Given the description of an element on the screen output the (x, y) to click on. 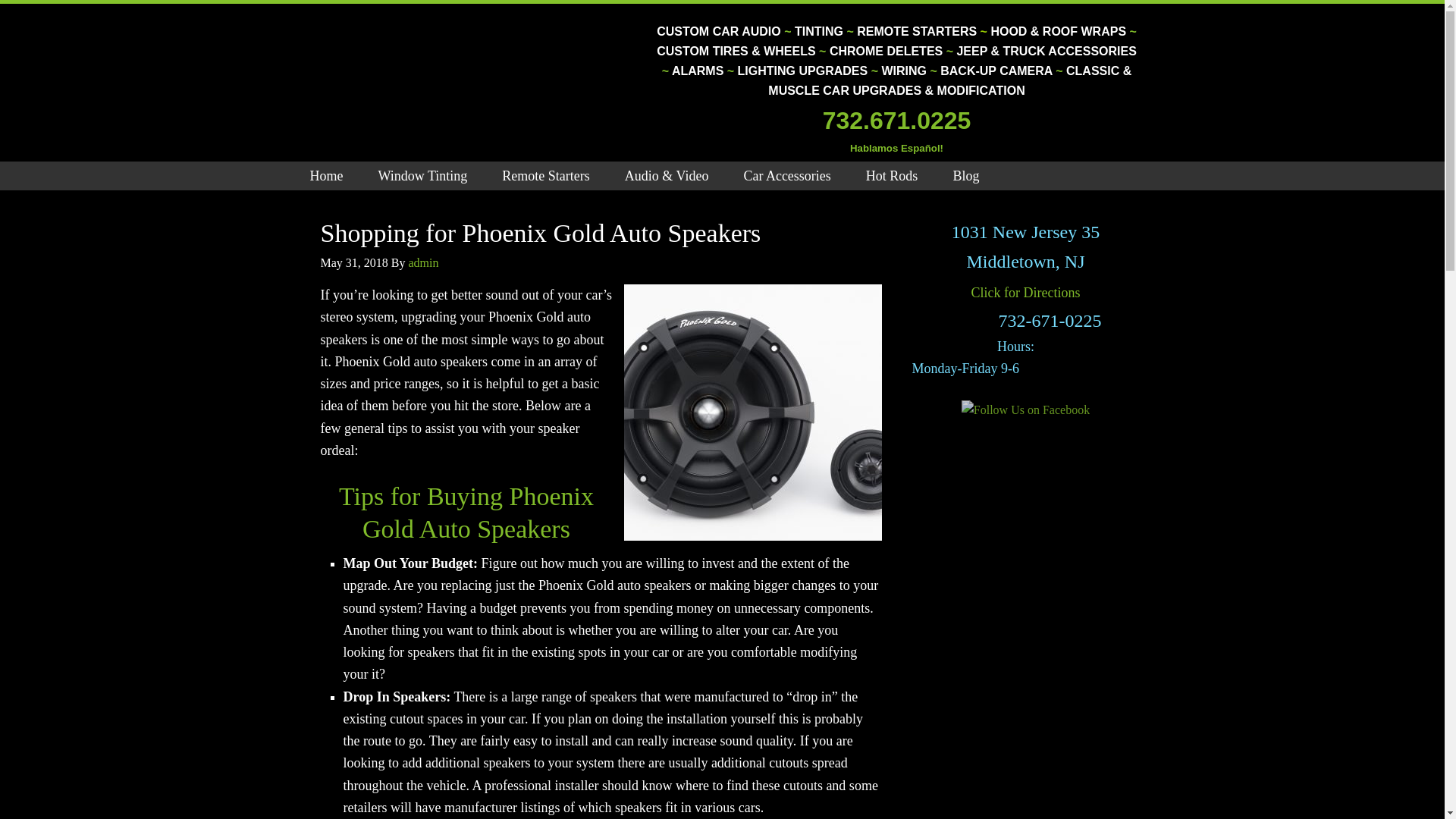
Hot Rods (892, 175)
admin (422, 262)
Shopping for Phoenix Gold Auto Speakers (540, 233)
Car Accessories (785, 175)
Home (325, 175)
Window Tinting (422, 175)
Blog (965, 175)
Follow Us on Facebook (1024, 410)
Remote Starters (545, 175)
